Given the description of an element on the screen output the (x, y) to click on. 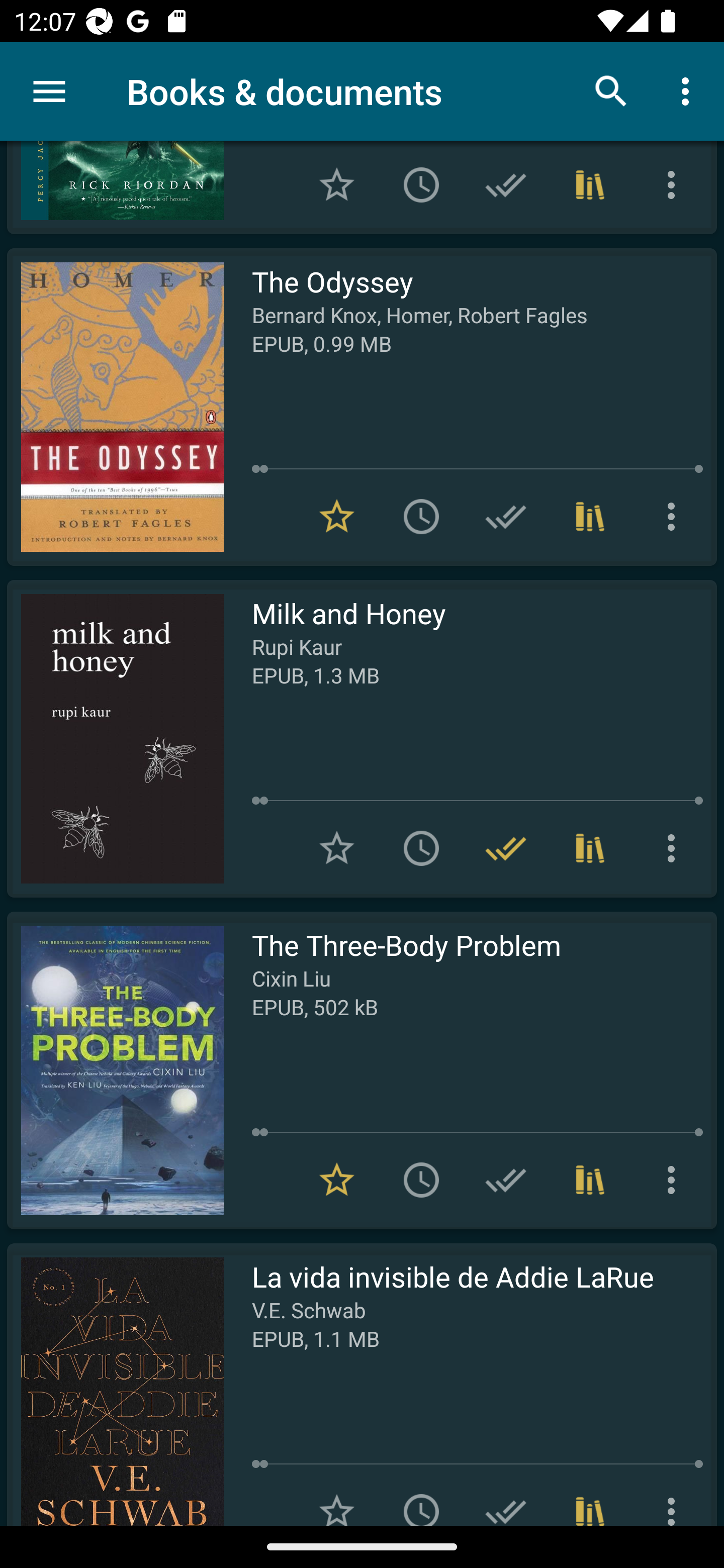
Menu (49, 91)
Search books & documents (611, 90)
More options (688, 90)
Add to Favorites (336, 184)
Add to To read (421, 184)
Add to Have read (505, 184)
Collections (1) (590, 184)
More options (674, 184)
Read The Odyssey (115, 406)
Remove from Favorites (336, 516)
Add to To read (421, 516)
Add to Have read (505, 516)
Collections (2) (590, 516)
More options (674, 516)
Read Milk and Honey (115, 738)
Add to Favorites (336, 847)
Add to To read (421, 847)
Remove from Have read (505, 847)
Collections (1) (590, 847)
More options (674, 847)
Read The Three-Body Problem (115, 1070)
Remove from Favorites (336, 1179)
Add to To read (421, 1179)
Add to Have read (505, 1179)
Collections (1) (590, 1179)
More options (674, 1179)
Read La vida invisible de Addie LaRue (115, 1384)
Add to Favorites (336, 1497)
Add to To read (421, 1497)
Add to Have read (505, 1497)
Collections (1) (590, 1497)
More options (674, 1497)
